Given the description of an element on the screen output the (x, y) to click on. 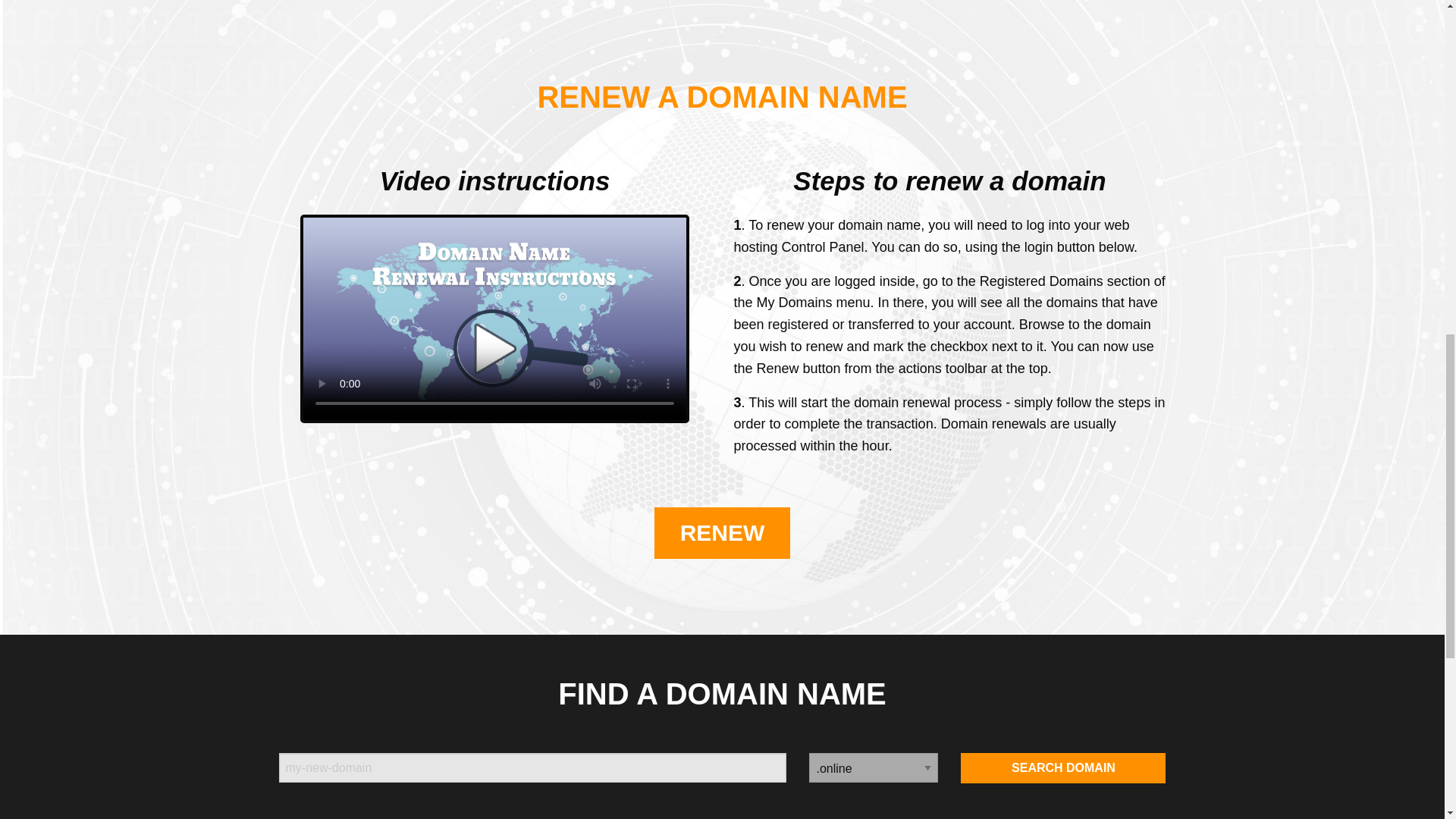
RENEW (721, 532)
SEARCH DOMAIN (1063, 767)
Renew (721, 532)
Search Domain (1063, 767)
